Given the description of an element on the screen output the (x, y) to click on. 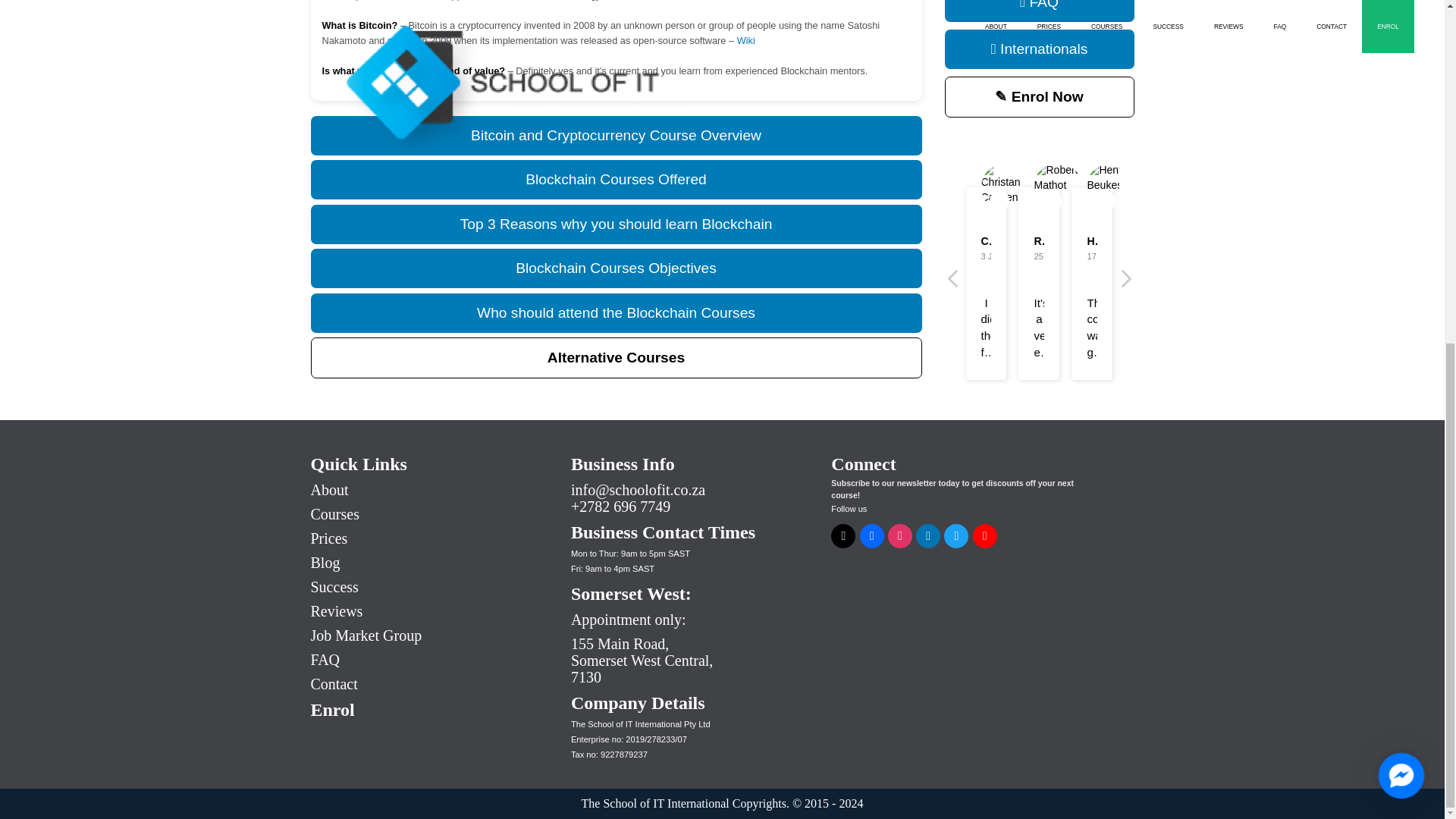
Instagram (900, 535)
Wiki (745, 40)
TikTok (843, 535)
Alternative Courses (616, 357)
Top 3 Reasons why you should learn Blockchain (616, 224)
LinkedIn (927, 535)
Who should attend the Blockchain Courses (616, 312)
Bitcoin and Cryptocurrency Course Overview (616, 135)
Blockchain Courses Objectives  (616, 268)
Blockchain Courses Offered (616, 179)
